Given the description of an element on the screen output the (x, y) to click on. 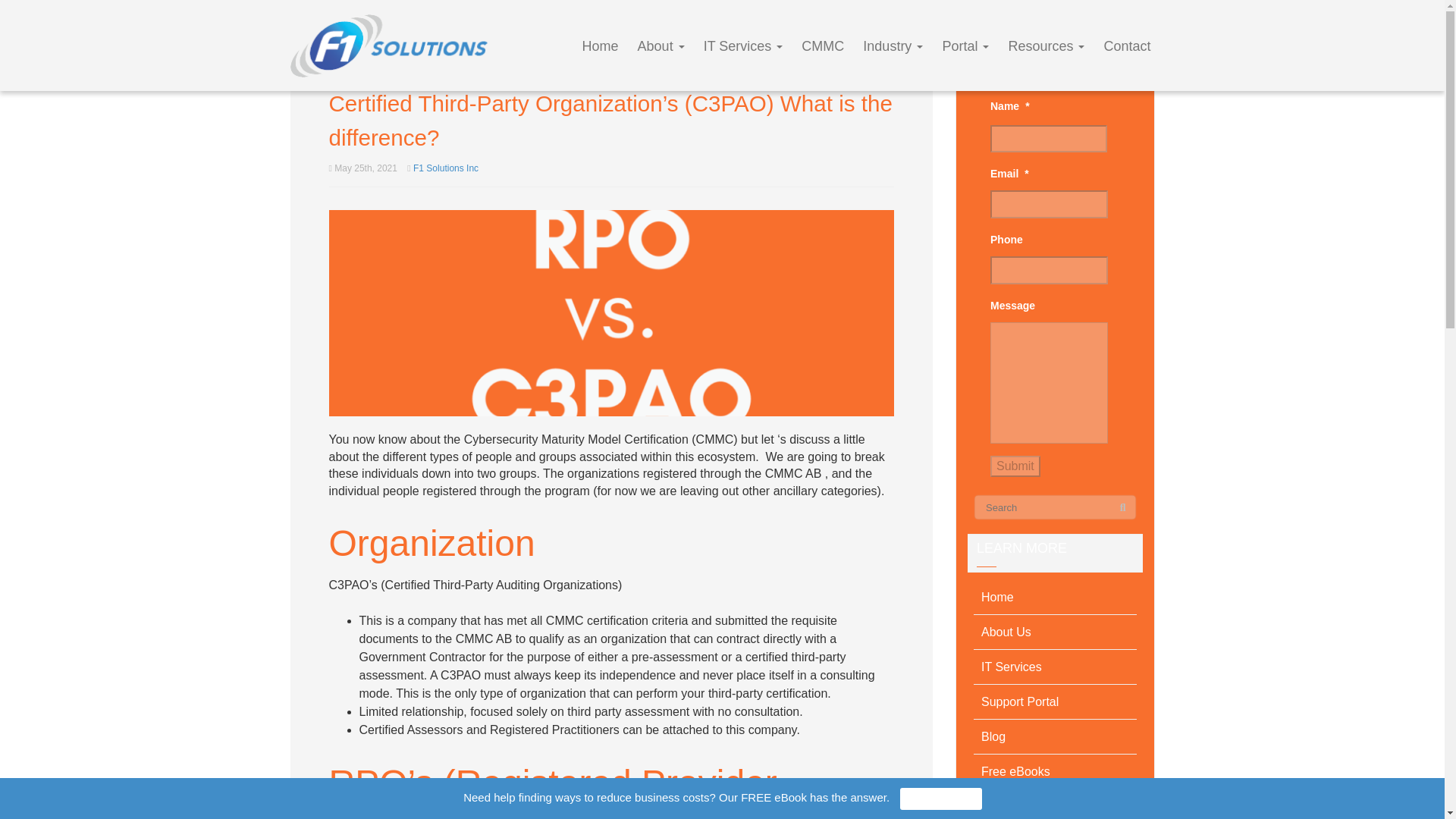
Home (1055, 597)
Submit (1015, 466)
Submit (1015, 466)
Search (1122, 508)
Resources (1045, 45)
Posts by F1 Solutions Inc (446, 167)
IT Services (743, 45)
F1 Solutions Inc (446, 167)
